Given the description of an element on the screen output the (x, y) to click on. 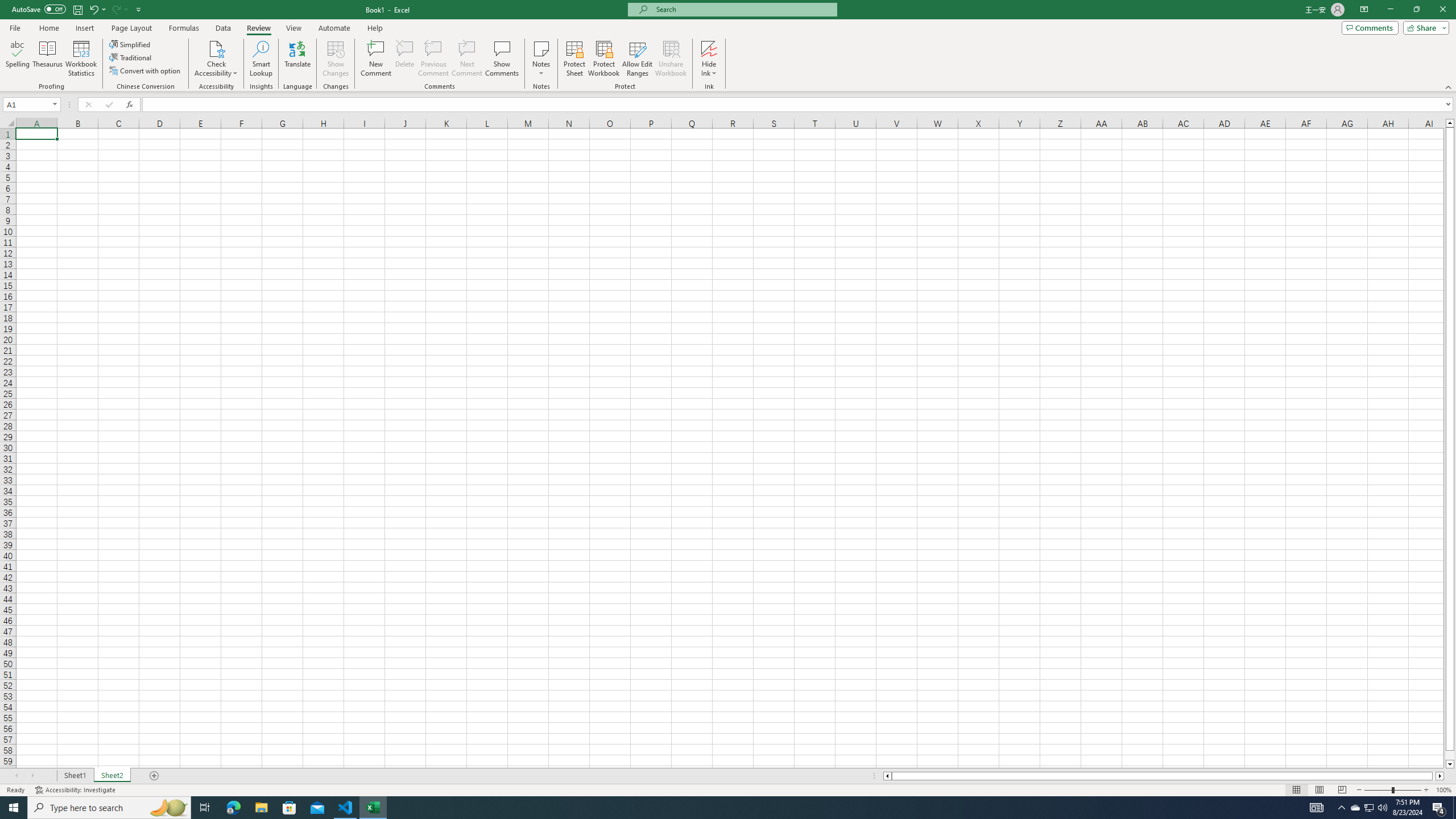
Check Accessibility (215, 48)
Restore Down (1416, 9)
Unshare Workbook (670, 58)
Traditional (131, 56)
Show Comments (501, 58)
Spelling... (17, 58)
